Given the description of an element on the screen output the (x, y) to click on. 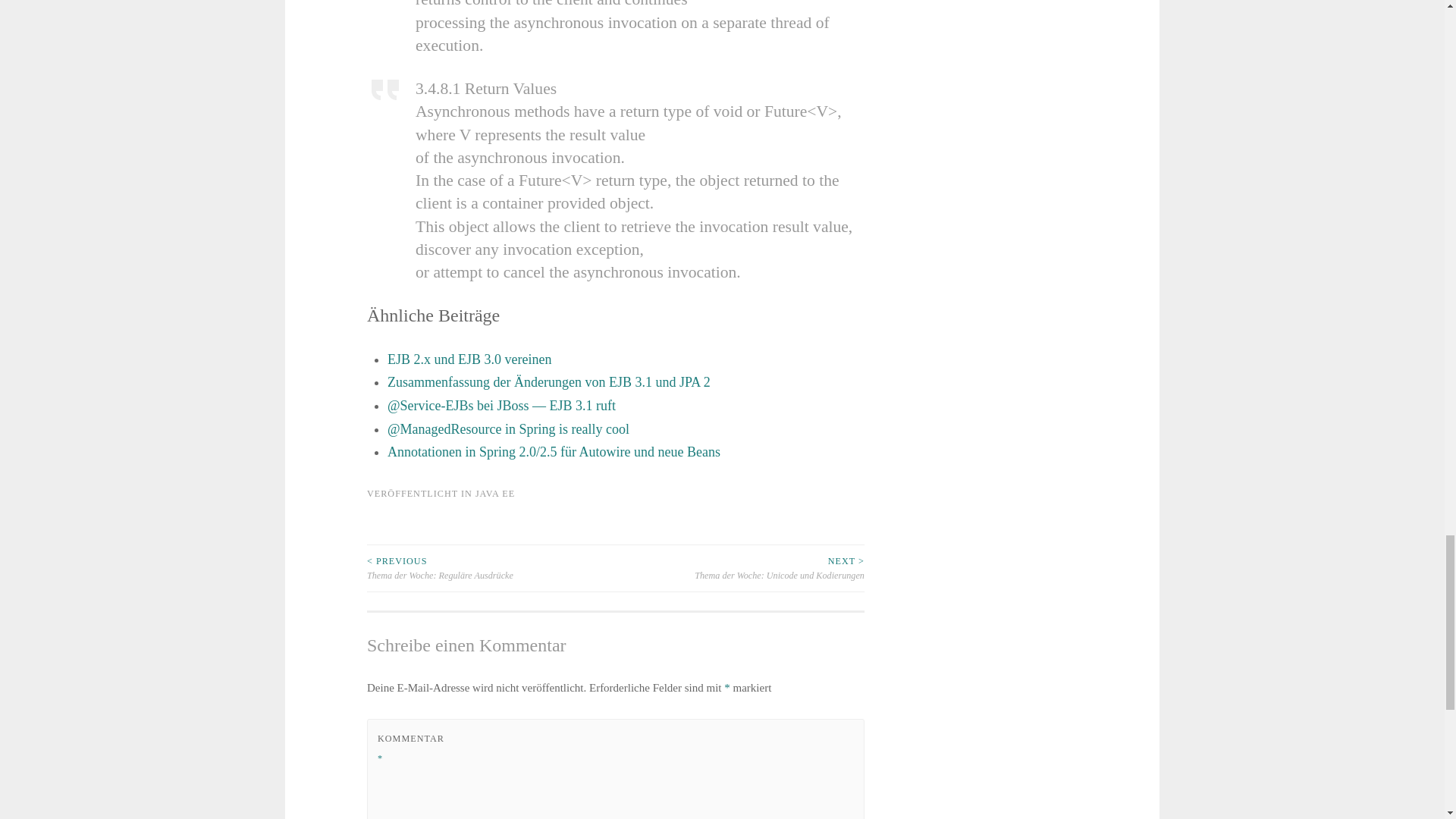
EJB 2.x und EJB 3.0 vereinen (469, 359)
EJB 2.x und EJB 3.0 vereinen (469, 359)
JAVA EE (495, 493)
